Given the description of an element on the screen output the (x, y) to click on. 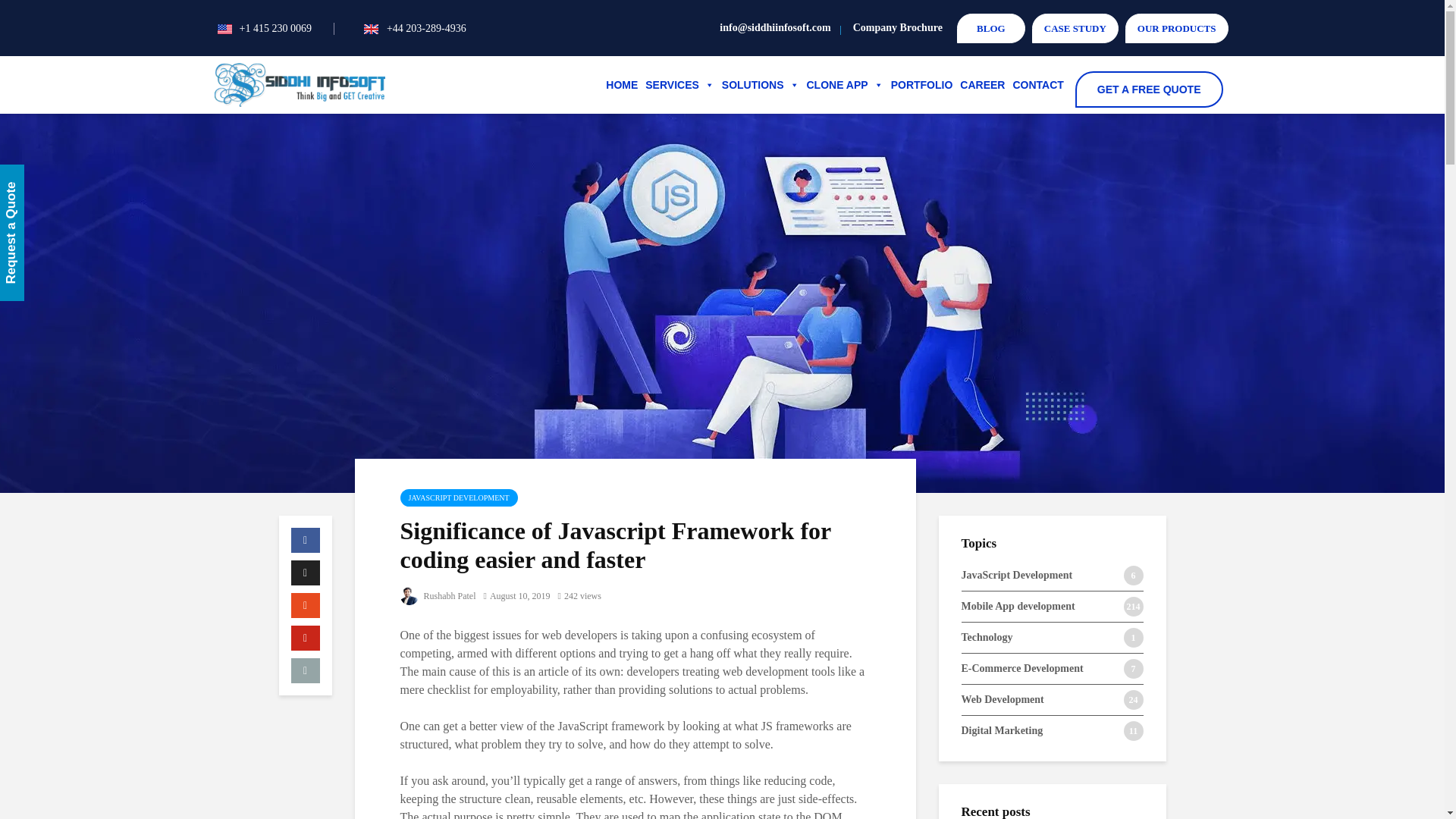
BLOG (990, 28)
CASE STUDY (1075, 28)
SERVICES (679, 84)
OUR PRODUCTS (1176, 28)
Company Brochure (897, 27)
